Given the description of an element on the screen output the (x, y) to click on. 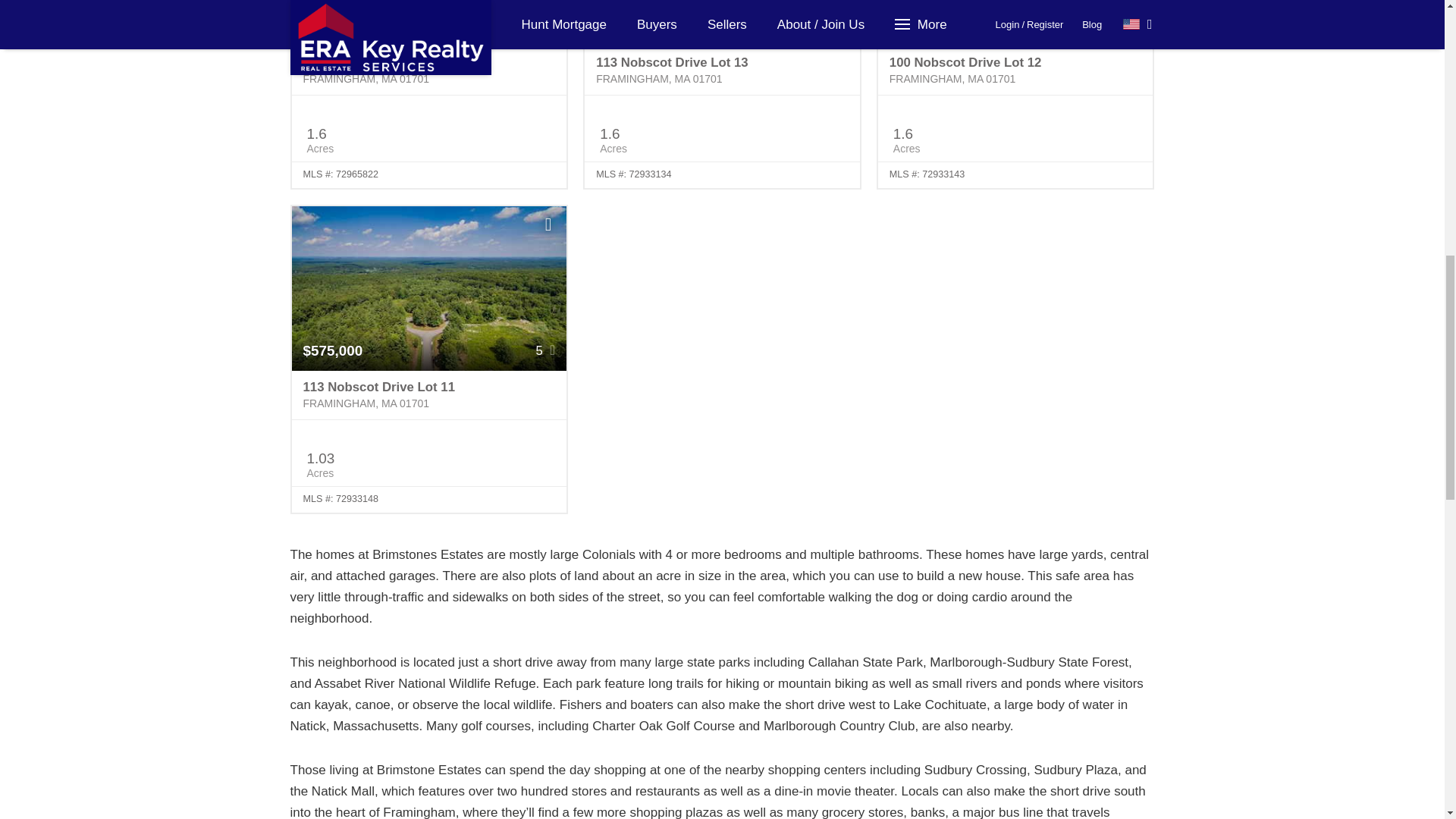
113 Nobscot Drive Lot 11 Framingham,  MA 01701 (428, 395)
100 Nobscot Drive Lot 12 Framingham,  MA 01701 (1015, 70)
106 Nobscot Drive Lot 6 Framingham,  MA 01701 (428, 70)
113 Nobscot Drive Lot 13 Framingham,  MA 01701 (722, 70)
